Given the description of an element on the screen output the (x, y) to click on. 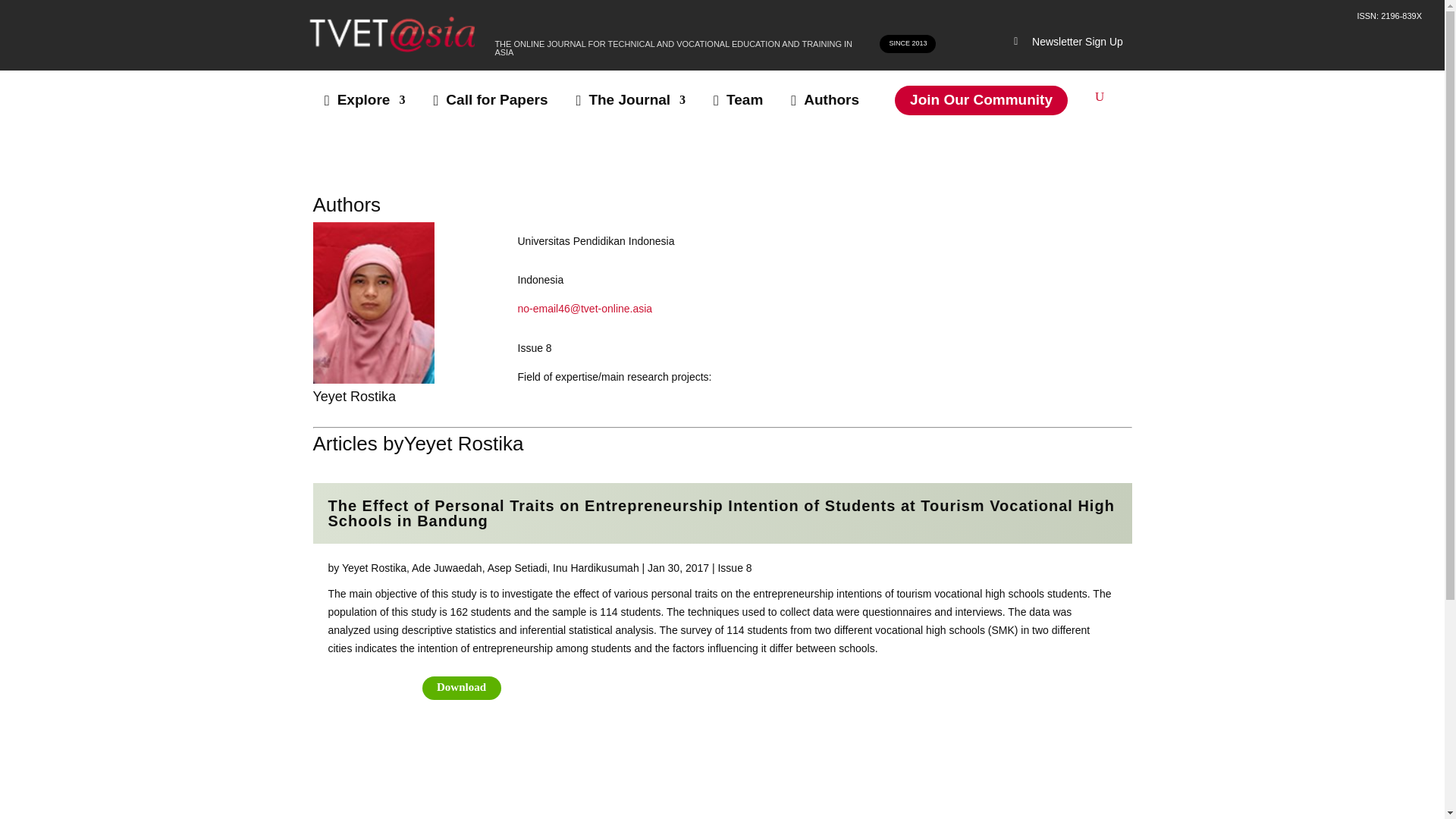
Call for Papers (494, 100)
Team (741, 100)
Newsletter Sign Up (1066, 42)
Authors (828, 100)
The Journal (634, 100)
Join Our Community (981, 100)
Explore (368, 100)
